Given the description of an element on the screen output the (x, y) to click on. 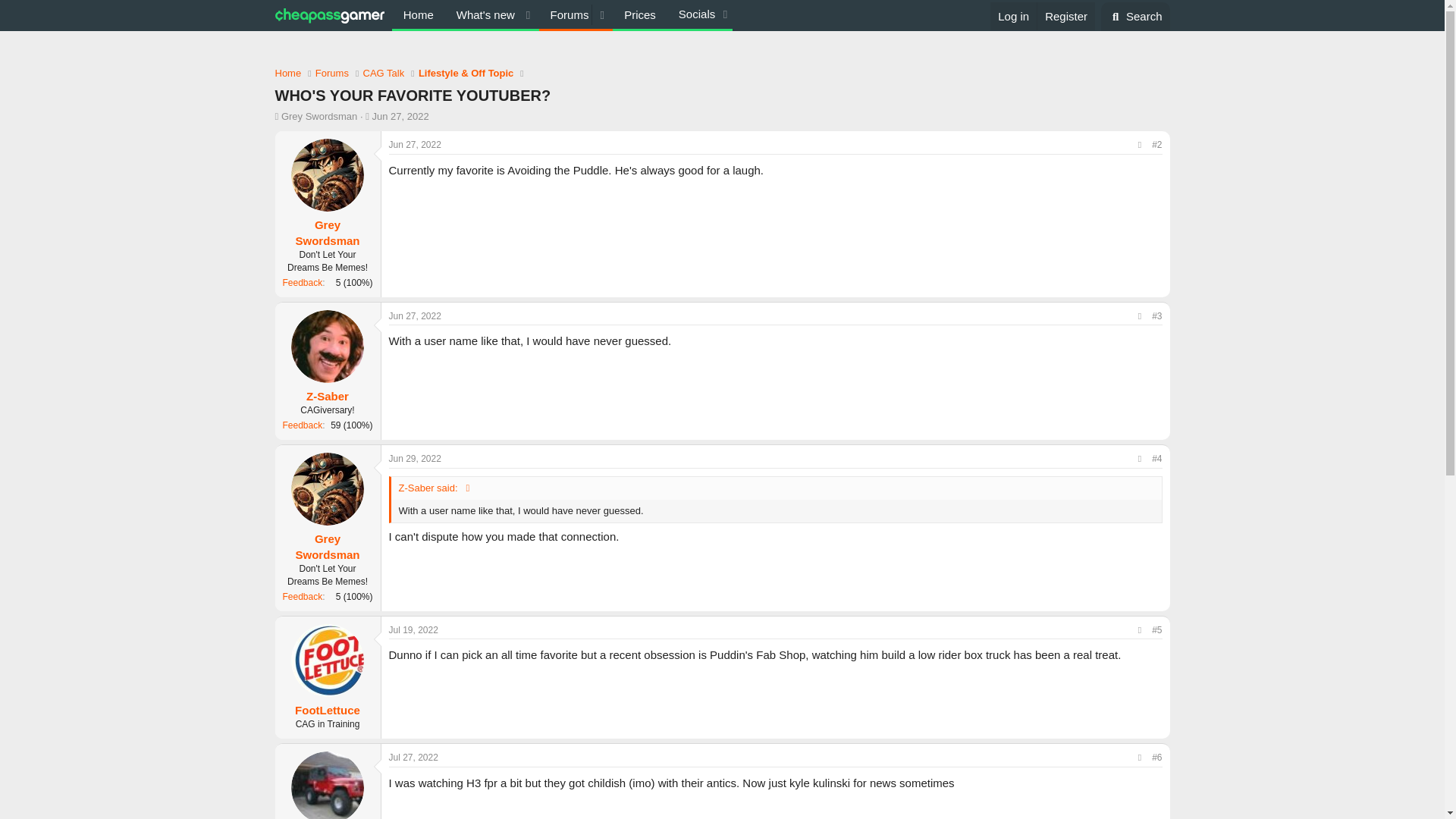
Jul 27, 2022 at 10:57 AM (413, 757)
Jun 27, 2022 at 4:01 AM (414, 144)
Socials (699, 14)
Grey Swordsman (318, 116)
Forums (332, 73)
Jun 29, 2022 at 11:03 PM (414, 458)
Home (418, 14)
Grey Swordsman (327, 232)
Search (1135, 16)
Prices (639, 14)
Jun 27, 2022 at 4:01 AM (400, 116)
Log in (1013, 16)
CAG Talk (383, 73)
Forums (565, 14)
What's new (481, 14)
